Given the description of an element on the screen output the (x, y) to click on. 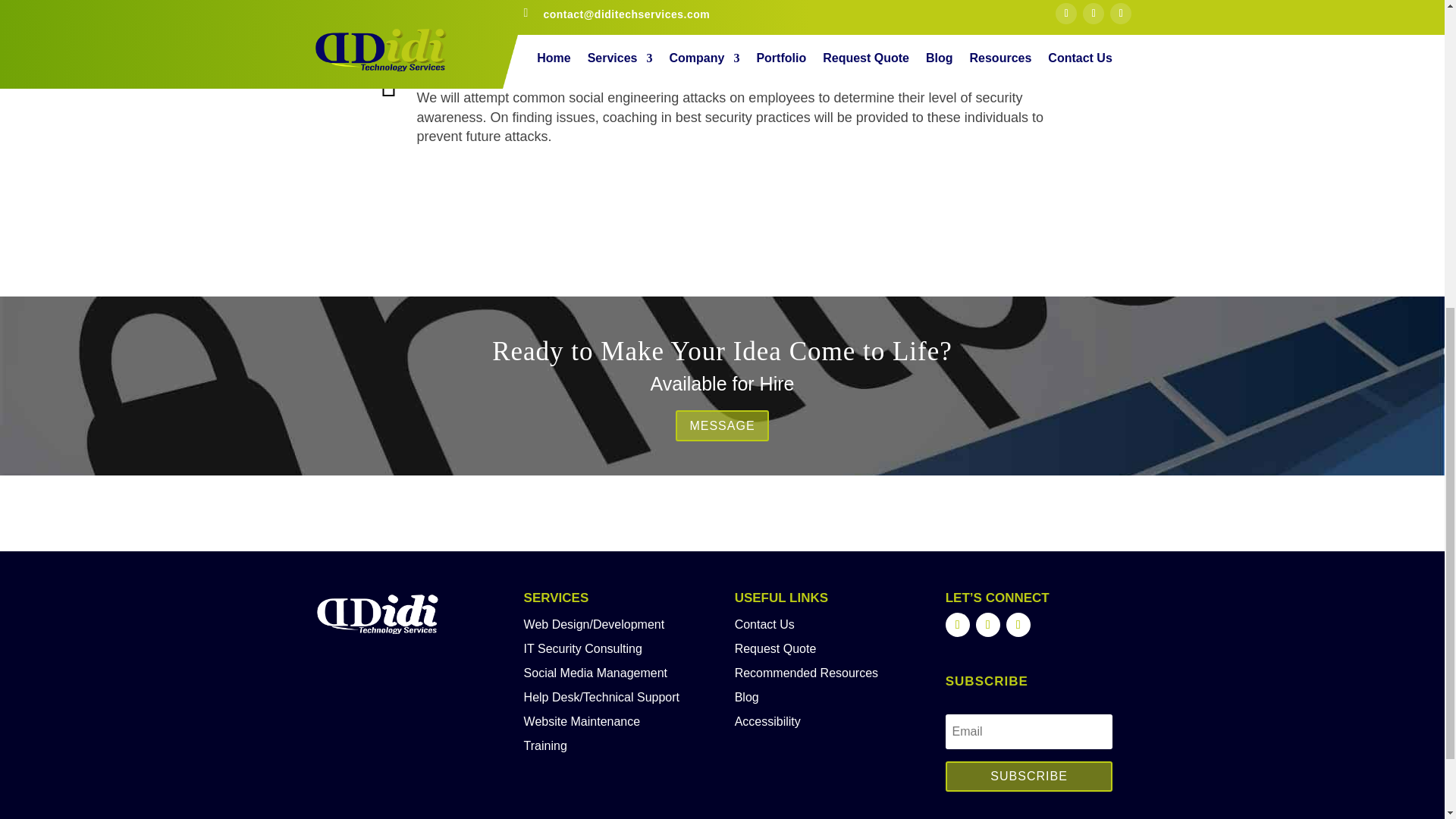
Didi Technology Services (377, 615)
Follow on Twitter (1018, 624)
Follow on Facebook (956, 624)
Follow on Instagram (987, 624)
MESSAGE (721, 425)
